Given the description of an element on the screen output the (x, y) to click on. 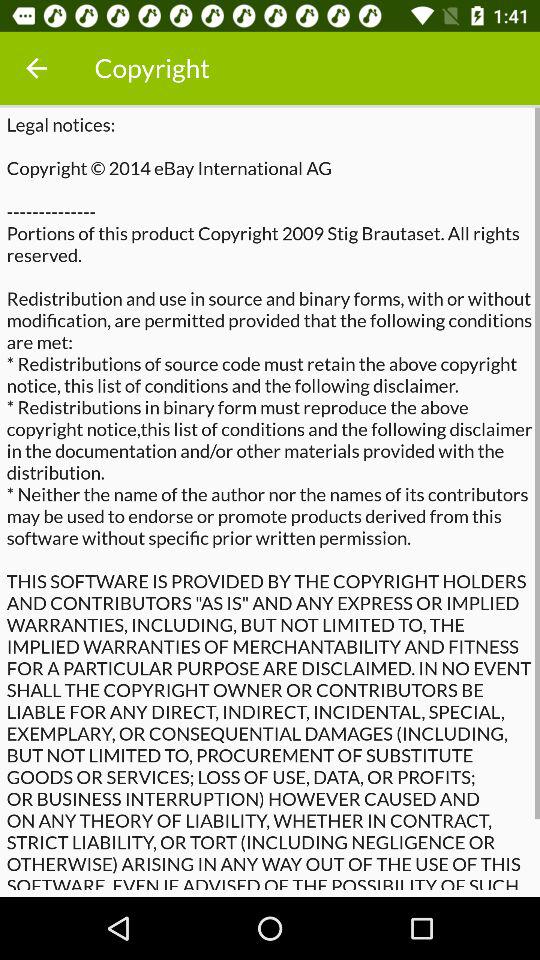
turn on item to the left of copyright (36, 68)
